Given the description of an element on the screen output the (x, y) to click on. 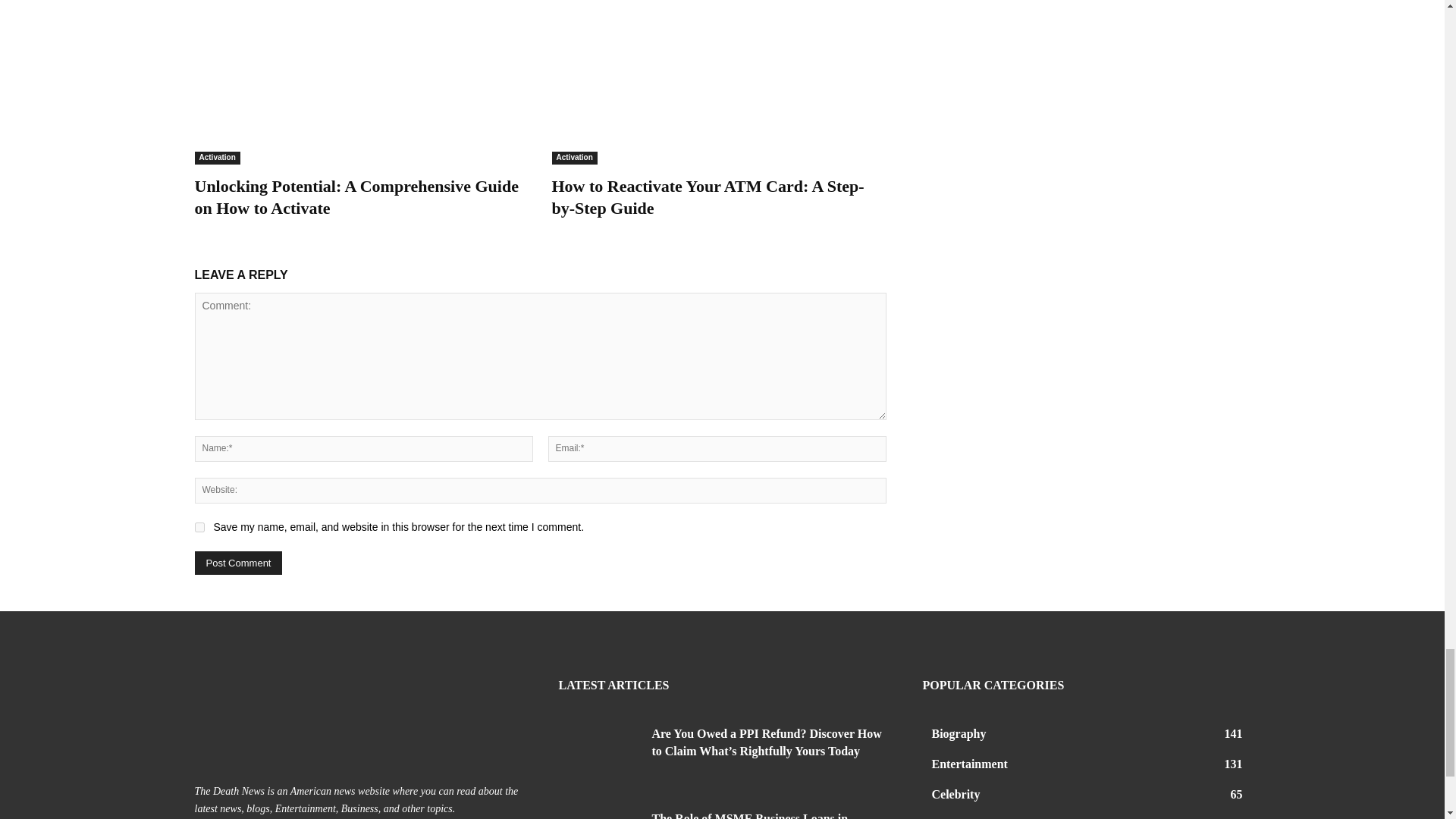
yes (198, 527)
Post Comment (237, 562)
